Given the description of an element on the screen output the (x, y) to click on. 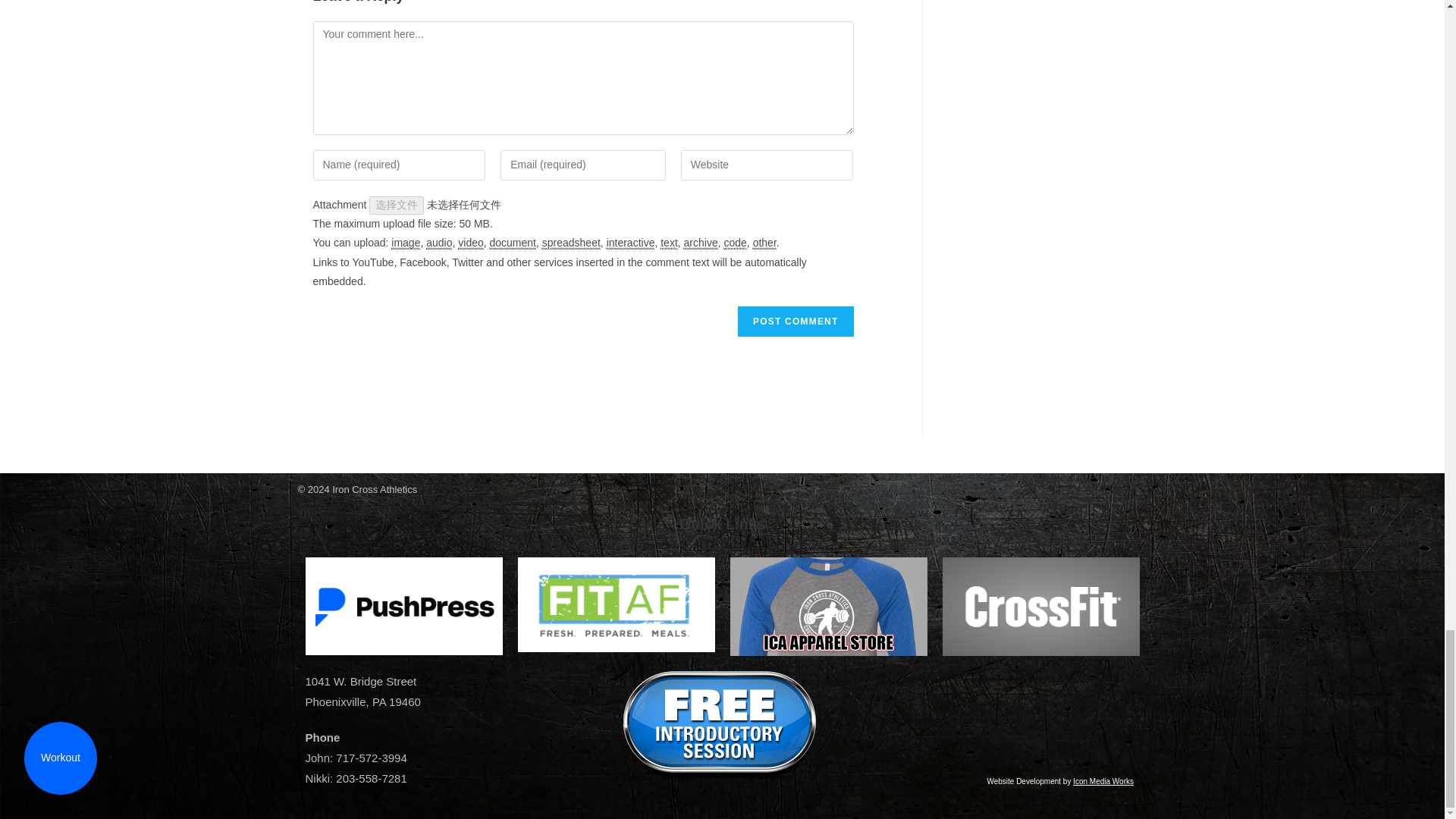
Post Comment (795, 321)
tar, zip, gz, rar, 7z (700, 242)
txt, asc, csv, tsv (669, 242)
css (734, 242)
mp3, m4a, m4b, aac, ram, wav, ogg, oga, flac, wma, mka (438, 242)
pps, ppt, pptx, pptm, ppsx, ppsm, sldx, sldm, odp, key (631, 242)
xls, xlsx, xlsm, xlsb, ods, numbers (570, 242)
